Given the description of an element on the screen output the (x, y) to click on. 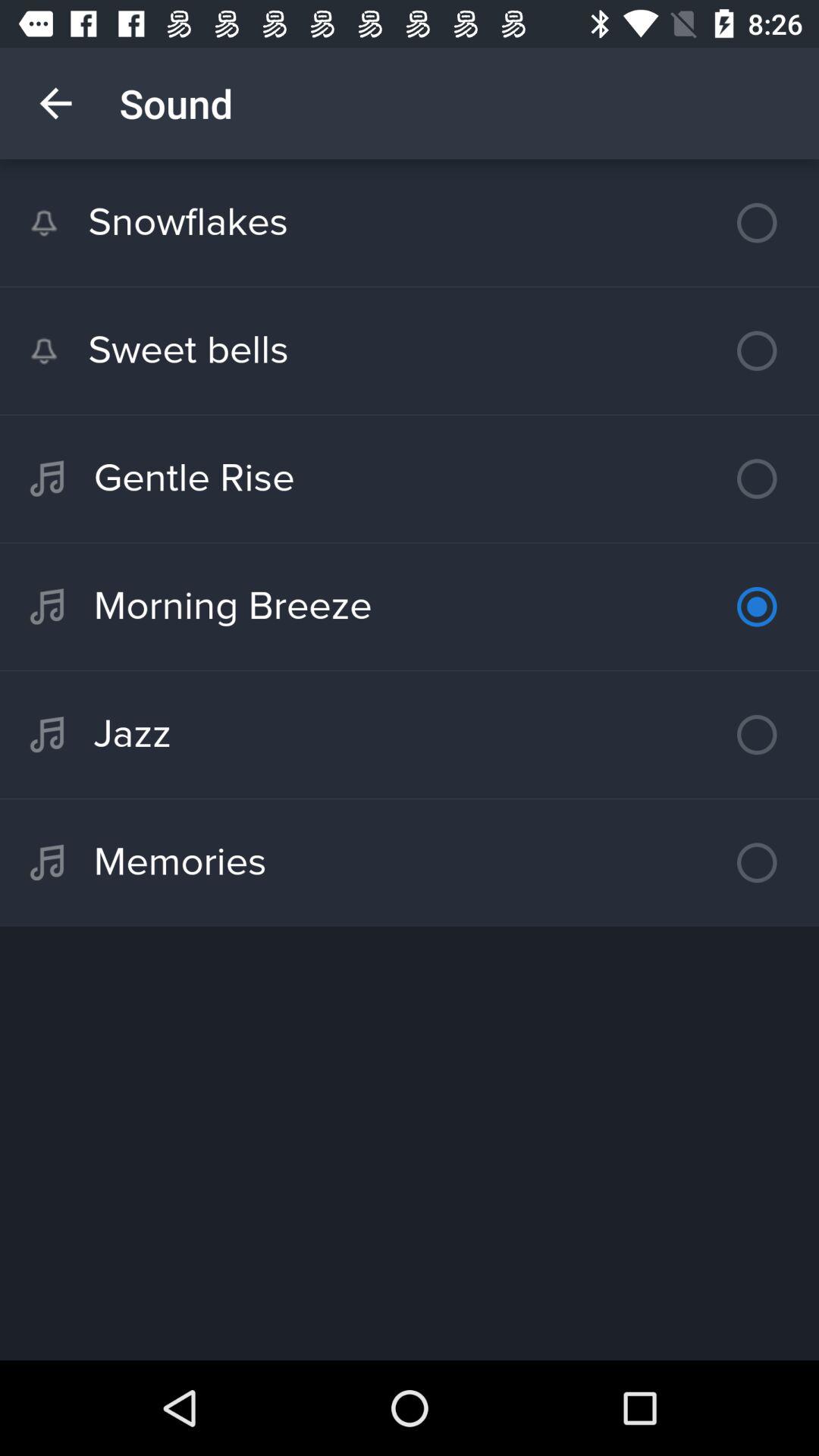
tap jazz (409, 734)
